Given the description of an element on the screen output the (x, y) to click on. 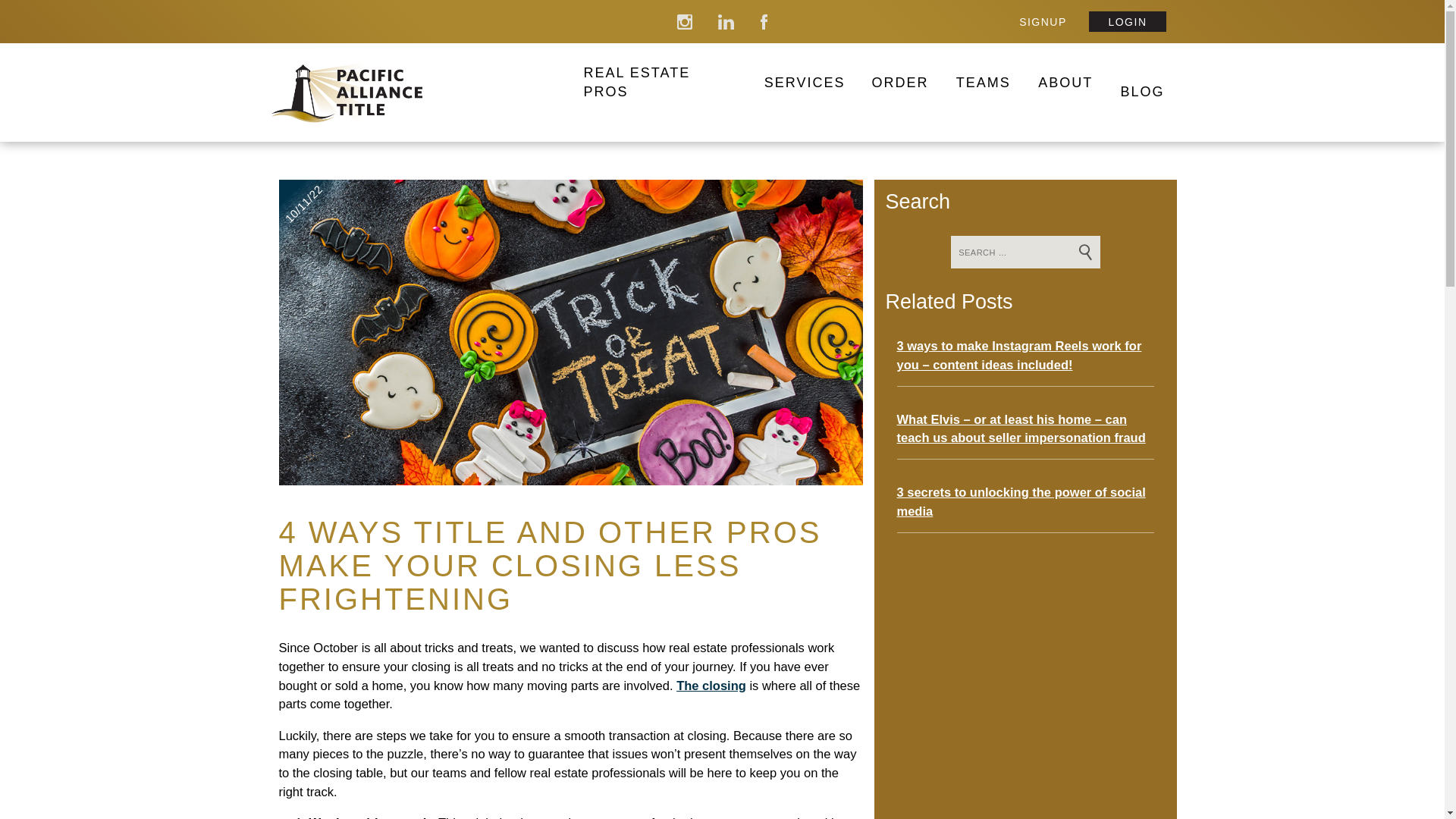
REAL ESTATE PROS (660, 82)
SERVICES (804, 81)
Skip Navigation (21, 2)
LOGIN (1127, 21)
SIGNUP (1043, 21)
Go to the Homepage (418, 92)
